Given the description of an element on the screen output the (x, y) to click on. 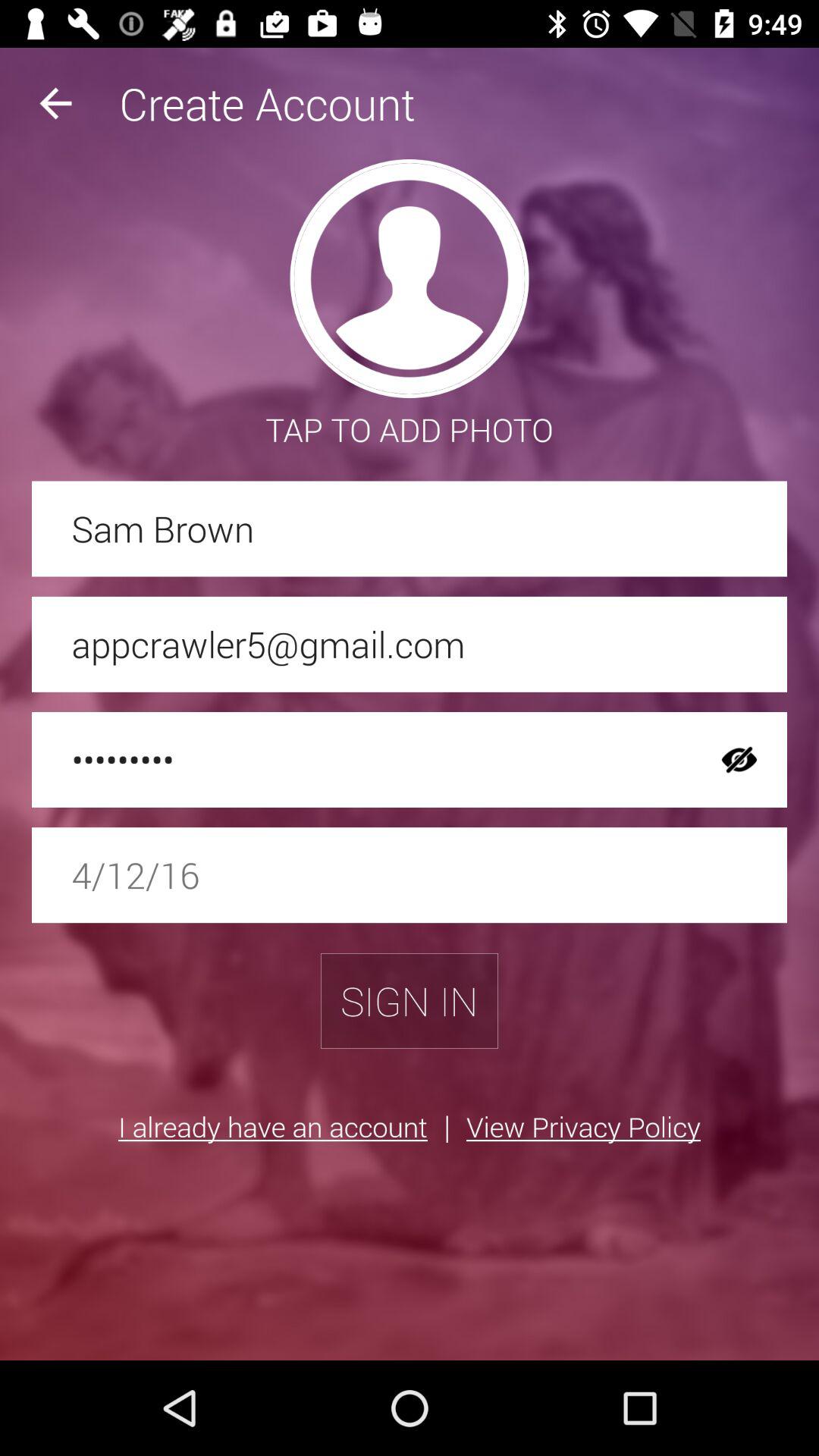
turn off icon above sam brown (55, 103)
